Given the description of an element on the screen output the (x, y) to click on. 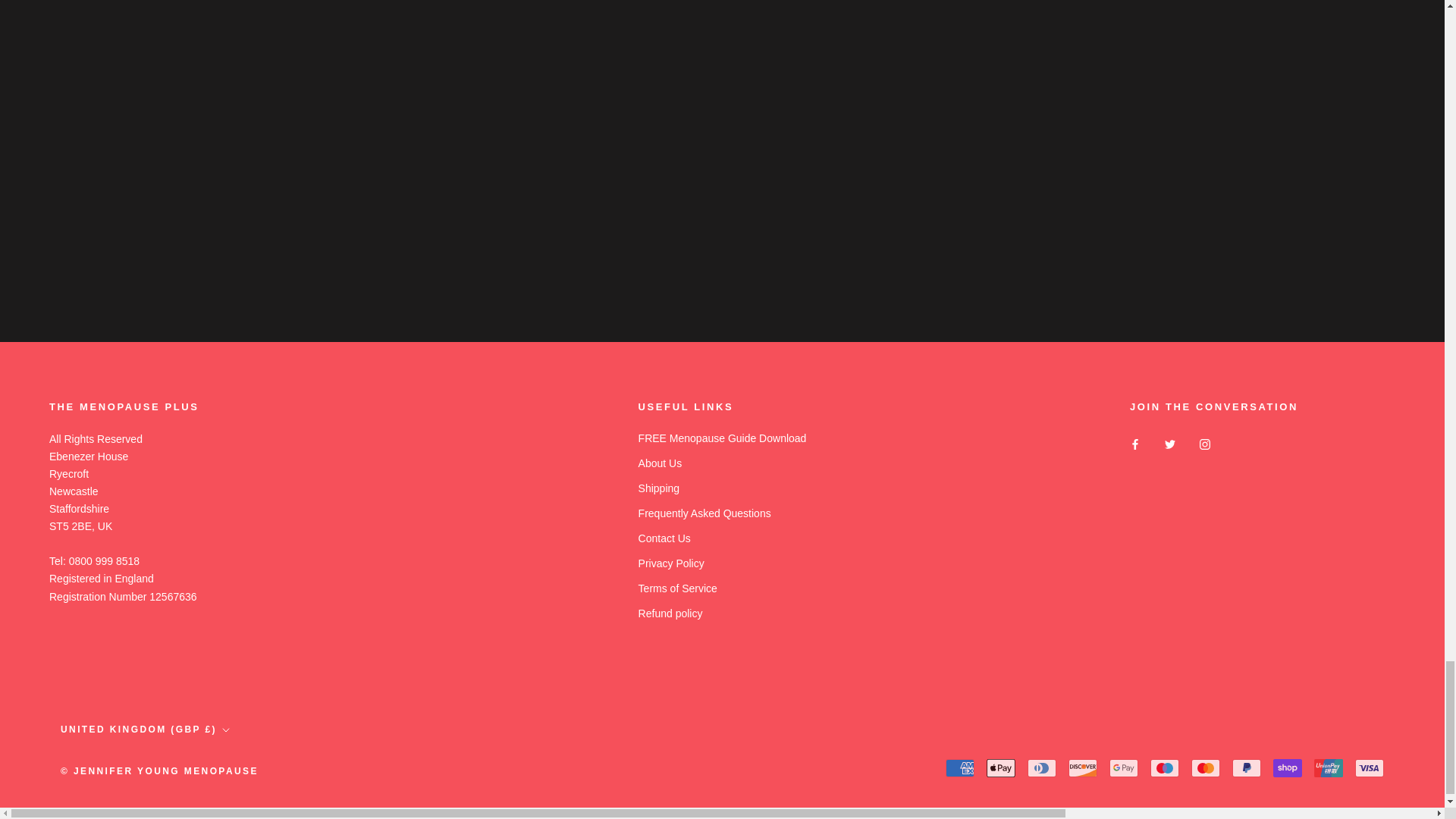
American Express (959, 768)
Apple Pay (1000, 768)
Google Pay (1123, 768)
Maestro (1164, 768)
Diners Club (1042, 768)
Shop Pay (1286, 768)
Discover (1082, 768)
Visa (1369, 768)
PayPal (1245, 768)
Mastercard (1205, 768)
